Given the description of an element on the screen output the (x, y) to click on. 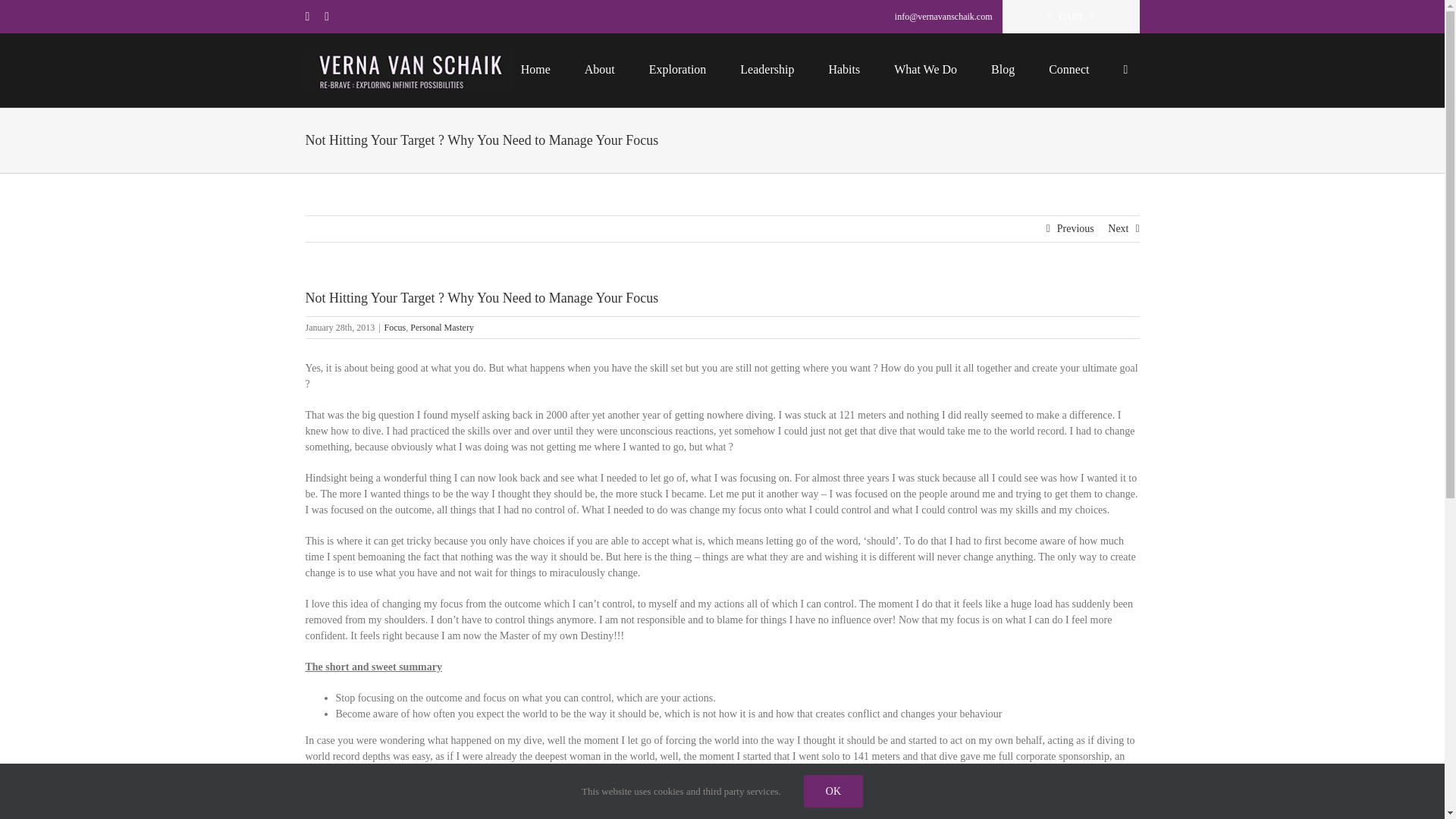
CART (1071, 16)
Previous (1075, 228)
change your focus (448, 816)
Personal Mastery (442, 327)
What We Do (924, 68)
Focus (395, 327)
